Given the description of an element on the screen output the (x, y) to click on. 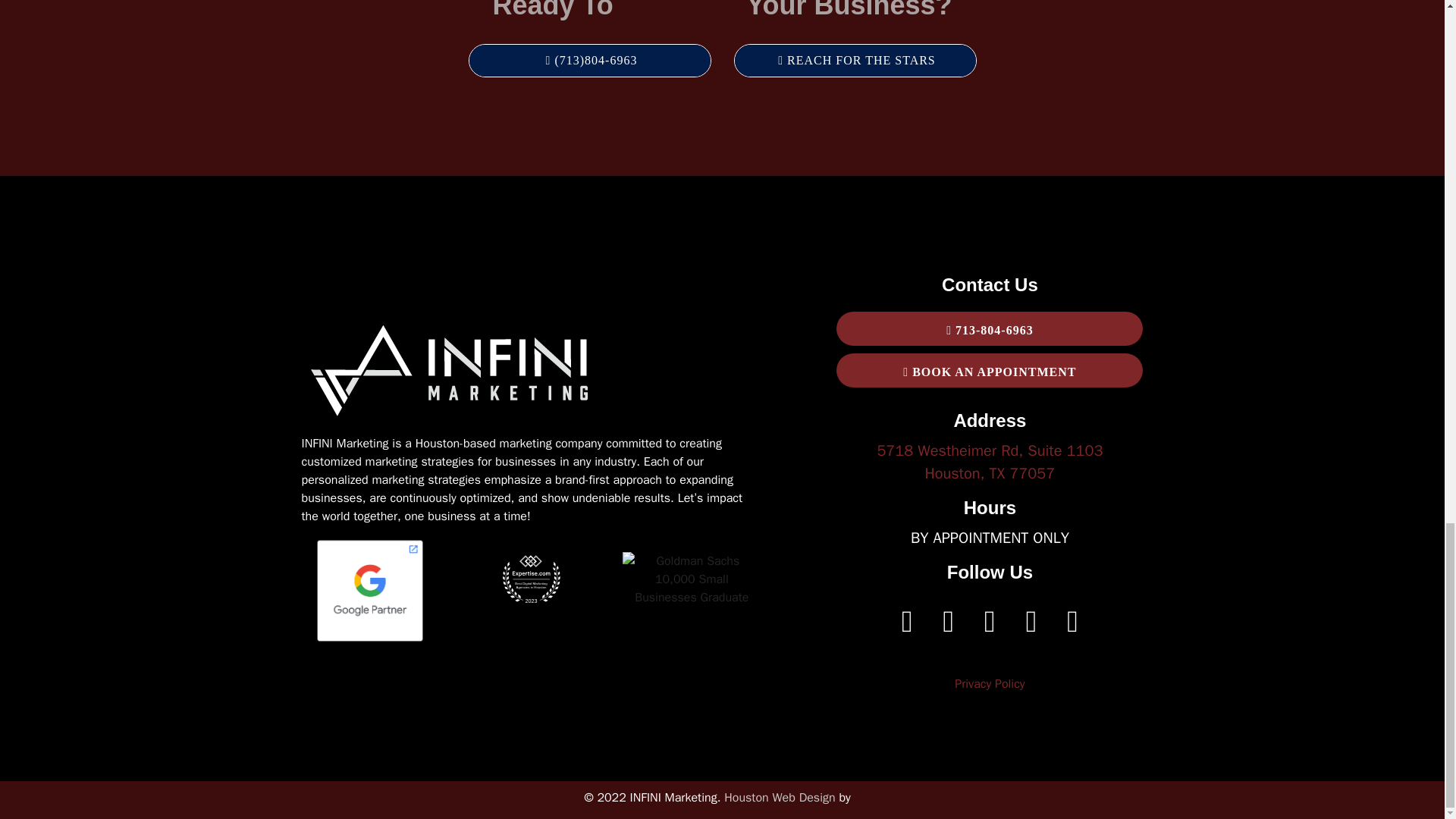
Privacy Policy (990, 683)
Privacy Policy (990, 683)
Houston Web Design (778, 797)
Houston Web Design (778, 797)
713-804-6963 (988, 328)
REACH FOR THE STARS (854, 60)
BOOK AN APPOINTMENT (989, 462)
